Given the description of an element on the screen output the (x, y) to click on. 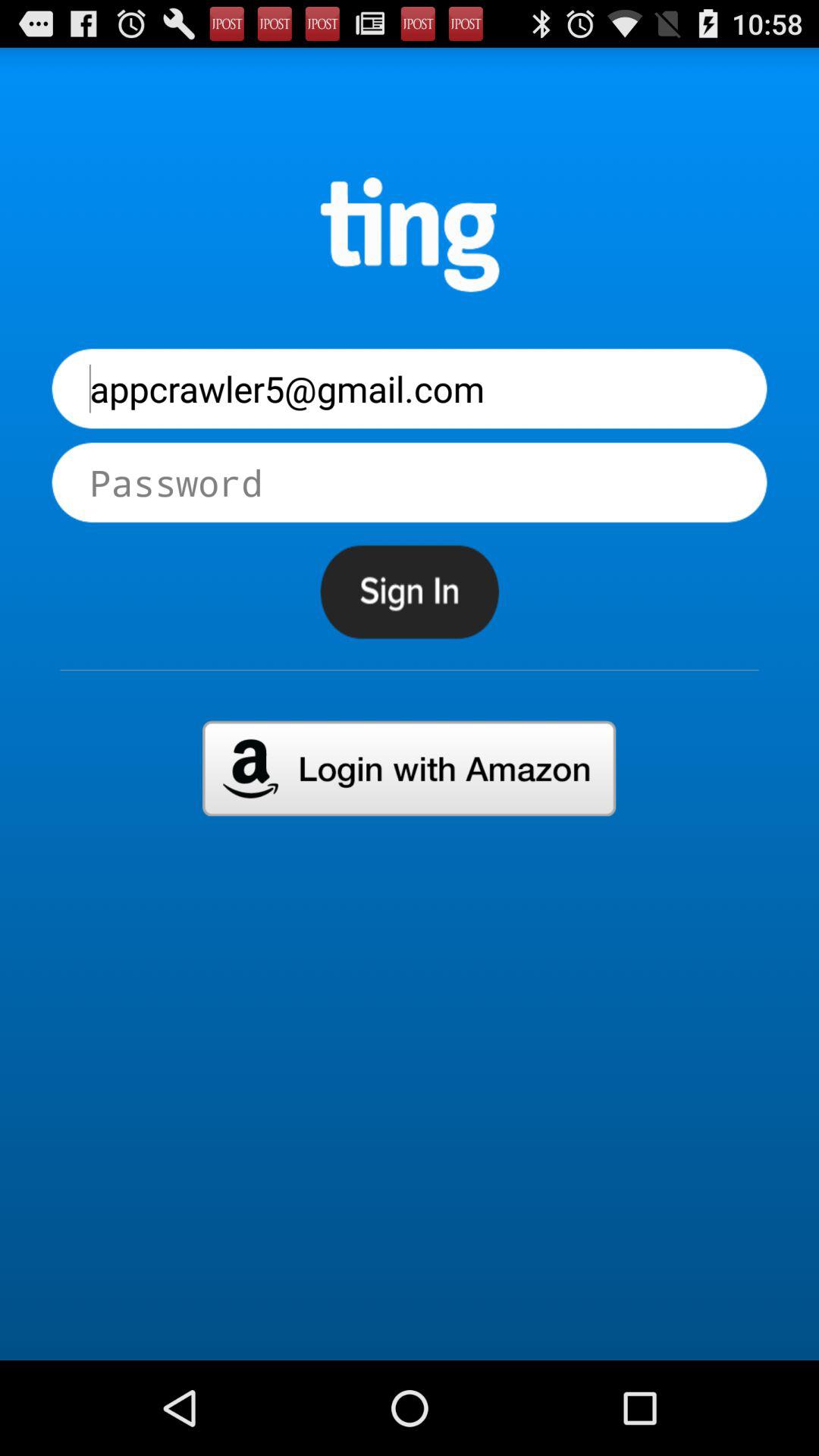
sign in to a page (408, 591)
